Given the description of an element on the screen output the (x, y) to click on. 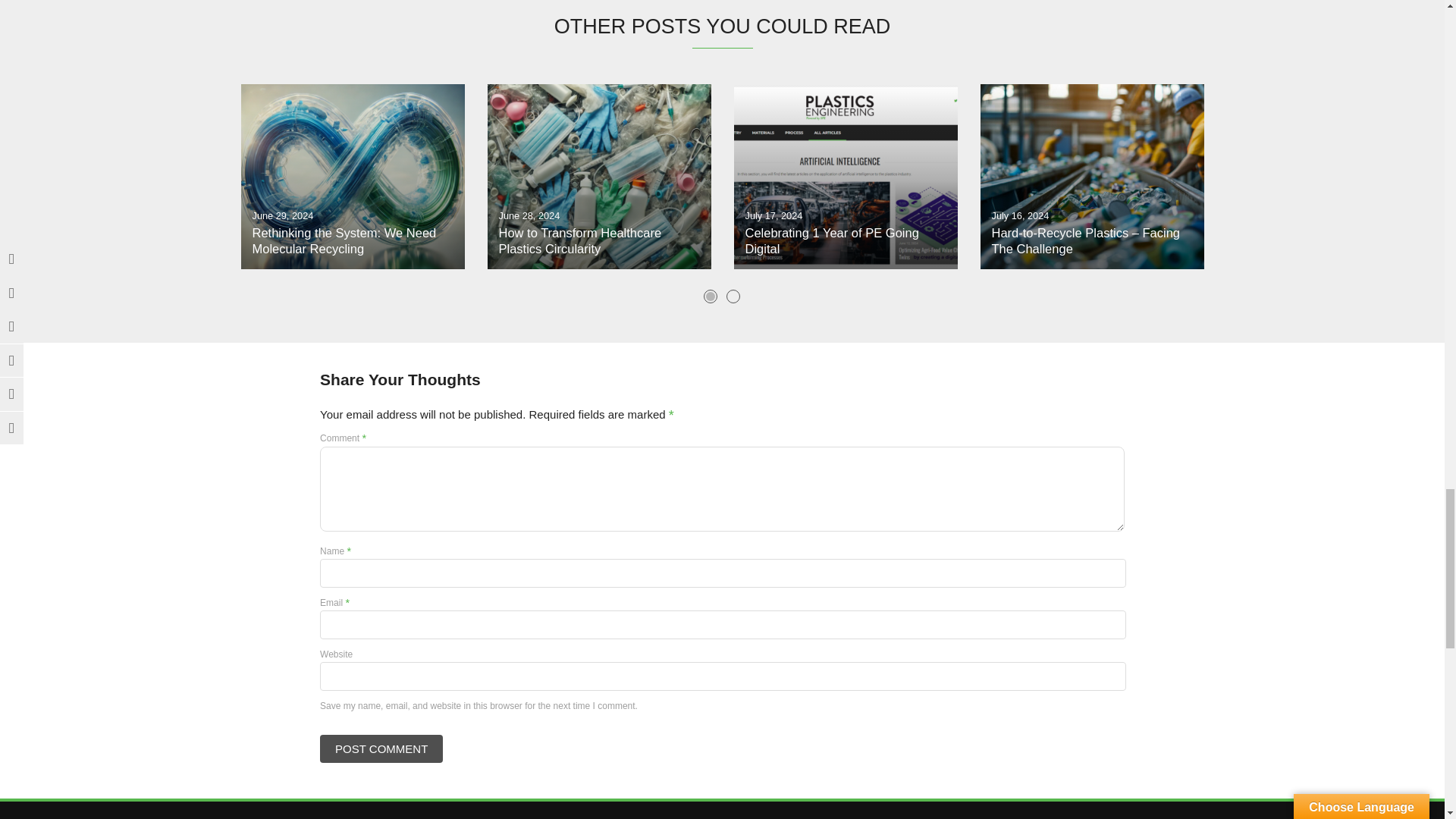
Rethinking the System: We Need Molecular Recycling (352, 176)
Post Comment (381, 748)
Celebrating 1 Year of PE Going Digital (845, 176)
How to Transform Healthcare Plastics Circularity (598, 176)
